Given the description of an element on the screen output the (x, y) to click on. 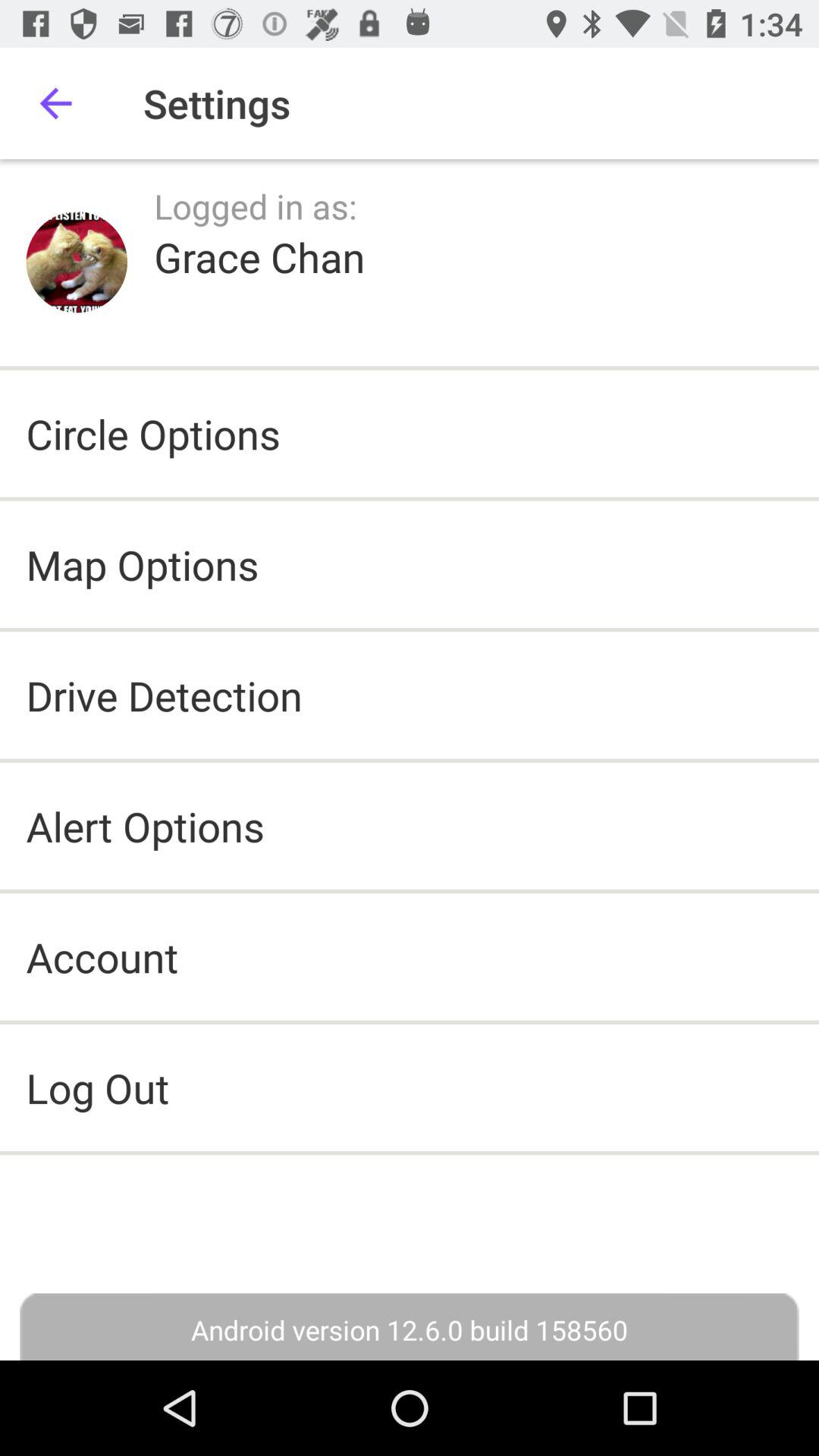
choose the circle options (153, 433)
